Given the description of an element on the screen output the (x, y) to click on. 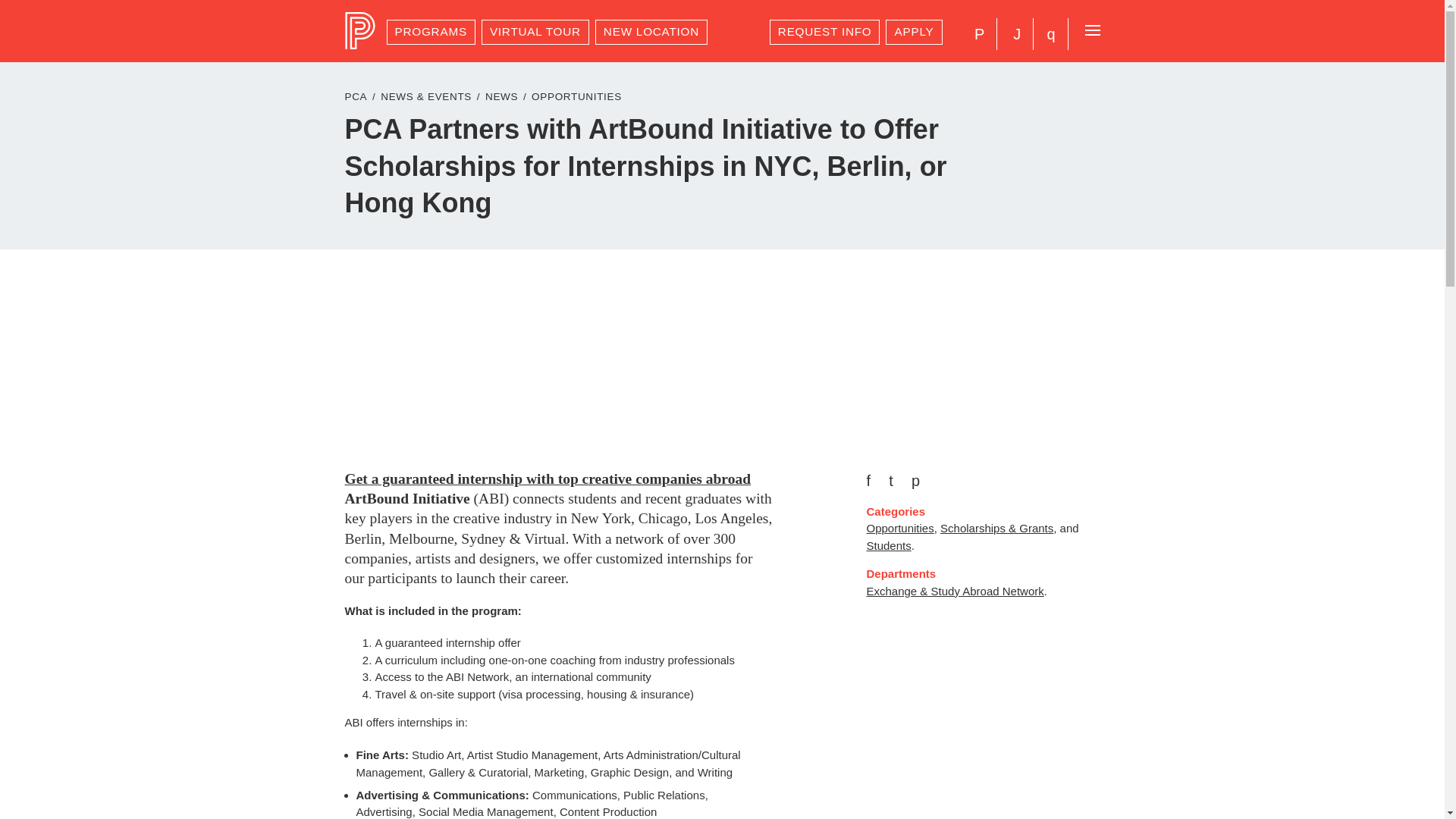
REQUEST INFO (825, 32)
Go to the News category archives. (501, 96)
Go to the Opportunities category archives. (576, 96)
J (1016, 33)
PROGRAMS (431, 32)
P (978, 33)
Go to PCA. (354, 96)
Search (1050, 33)
Events (1016, 33)
APPLY (913, 32)
